Given the description of an element on the screen output the (x, y) to click on. 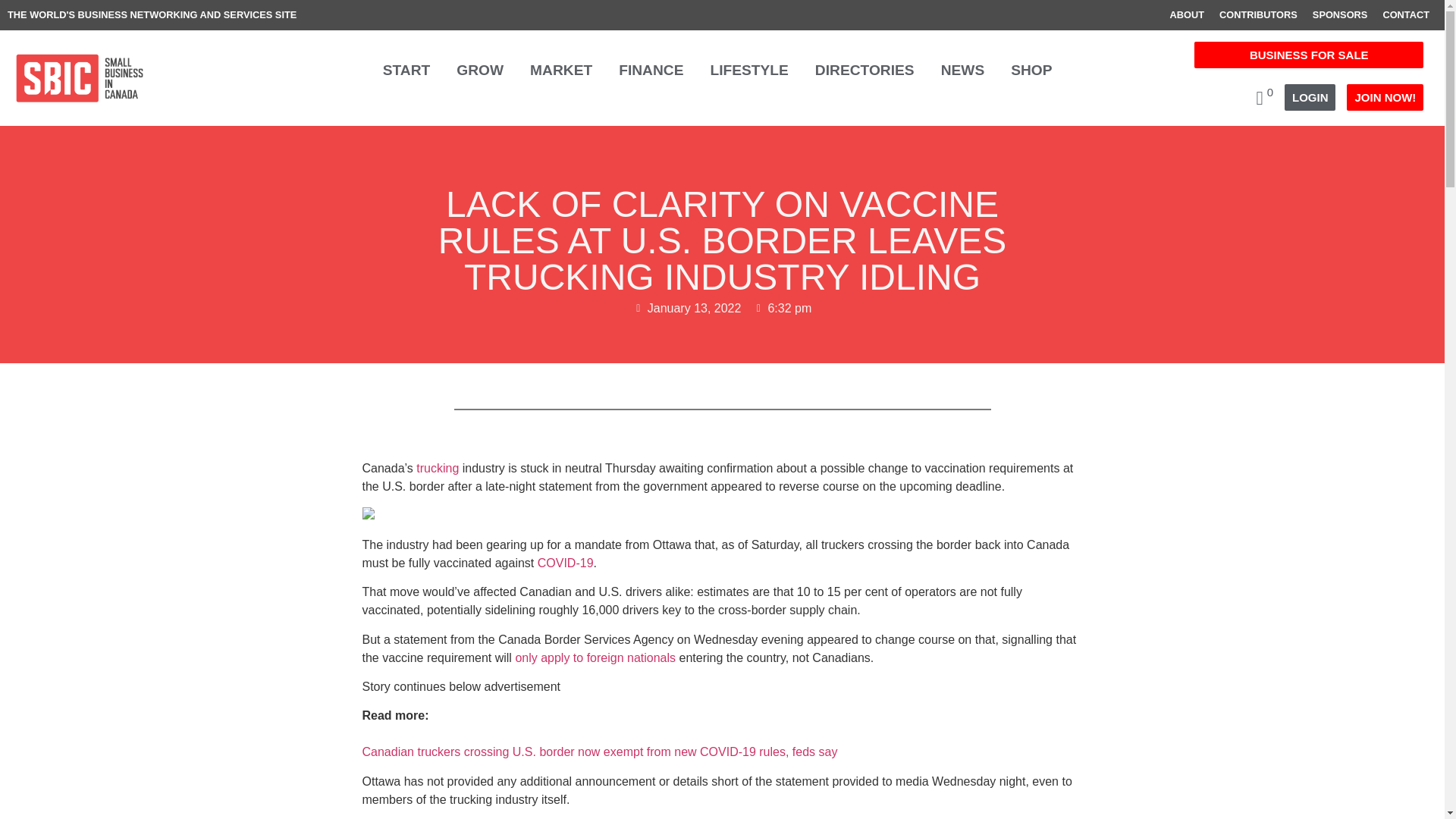
SPONSORS (1339, 14)
CONTACT (1405, 14)
ABOUT (1186, 14)
CONTRIBUTORS (1257, 14)
THE WORLD'S BUSINESS NETWORKING AND SERVICES SITE (152, 14)
